Given the description of an element on the screen output the (x, y) to click on. 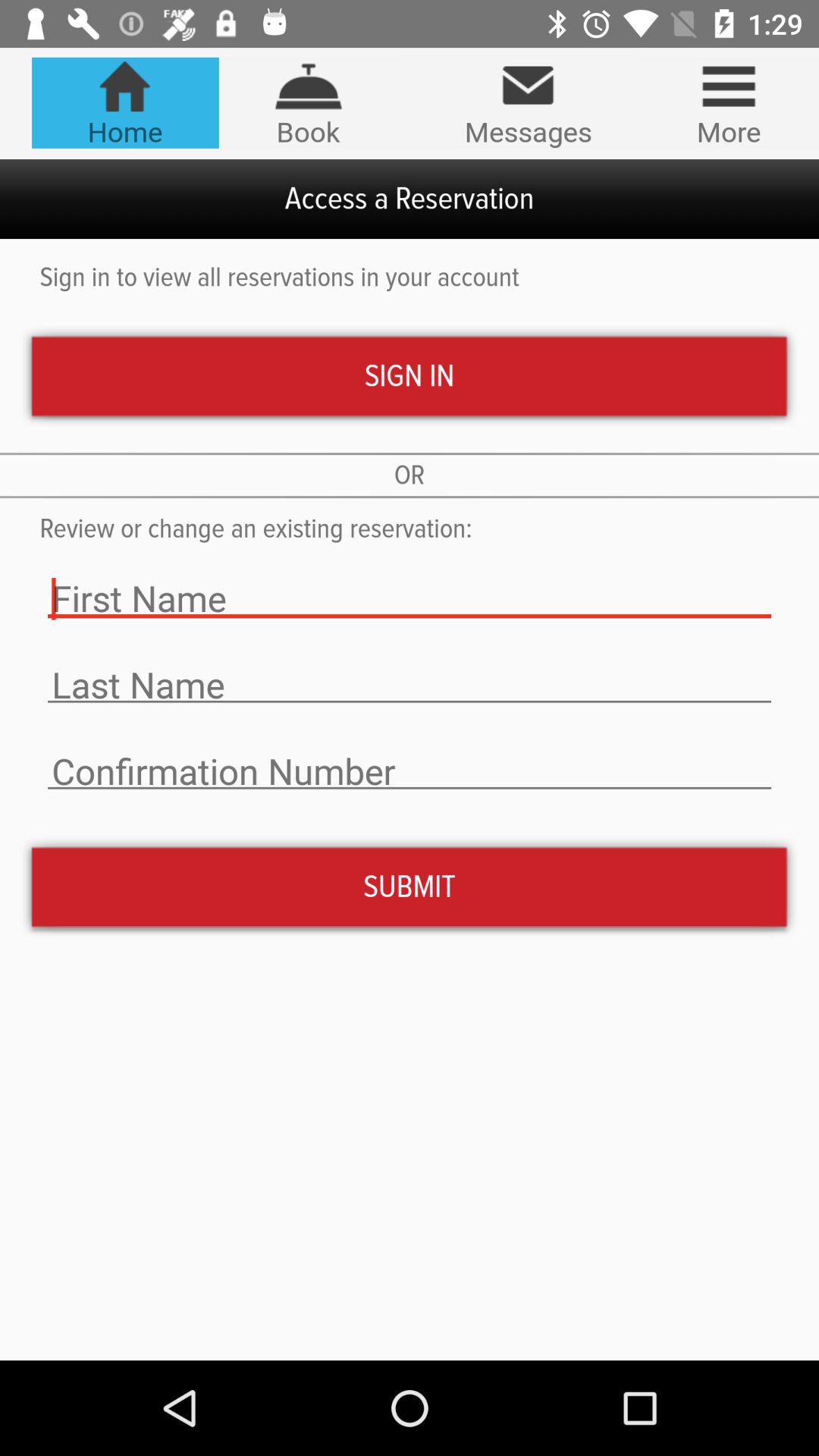
type text (409, 771)
